Given the description of an element on the screen output the (x, y) to click on. 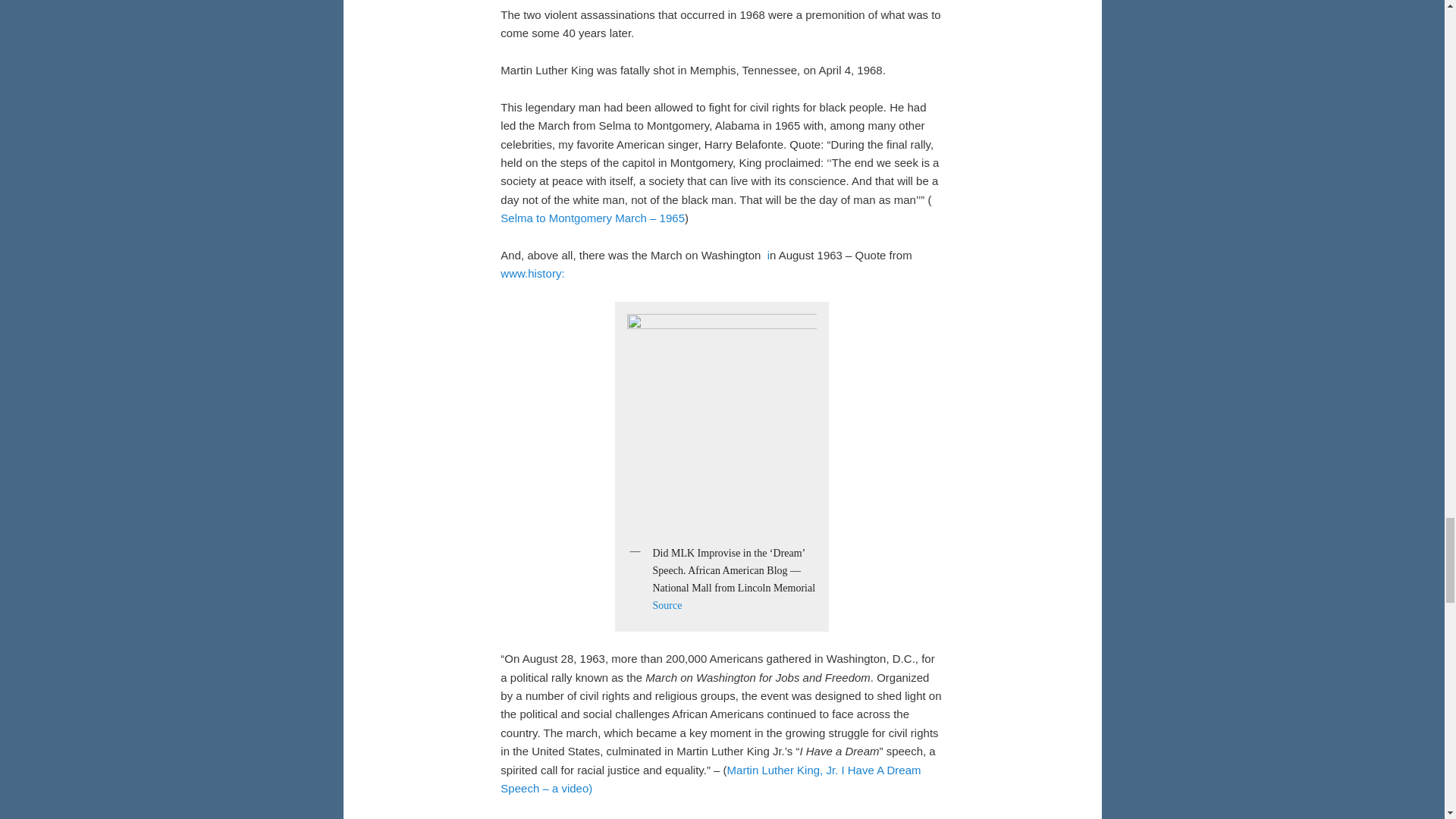
Martin Luther King, Jr. I Have A Dream Speech (710, 777)
